Given the description of an element on the screen output the (x, y) to click on. 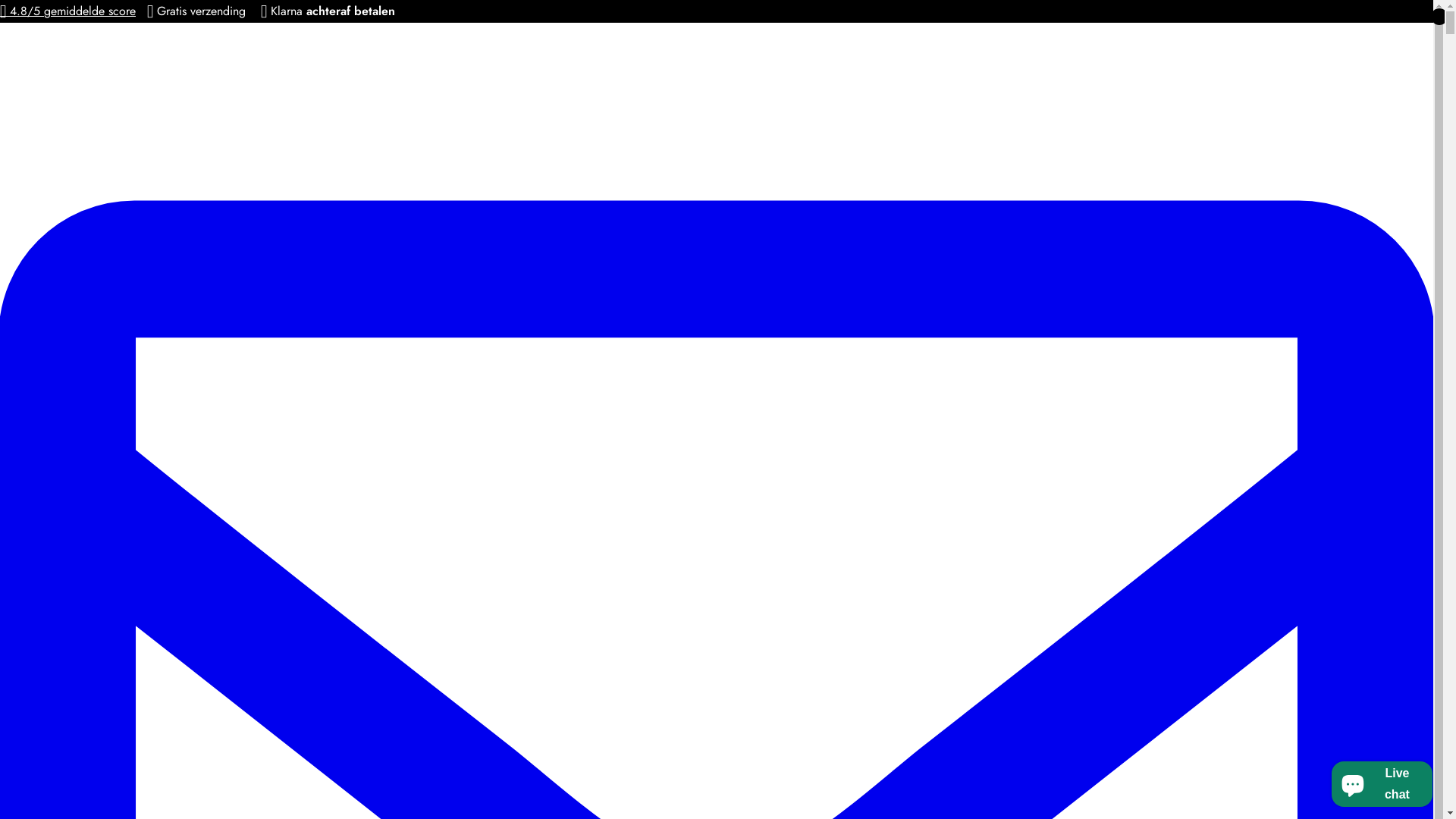
Onlinewinkel-chat van Shopify Element type: hover (1382, 780)
